Given the description of an element on the screen output the (x, y) to click on. 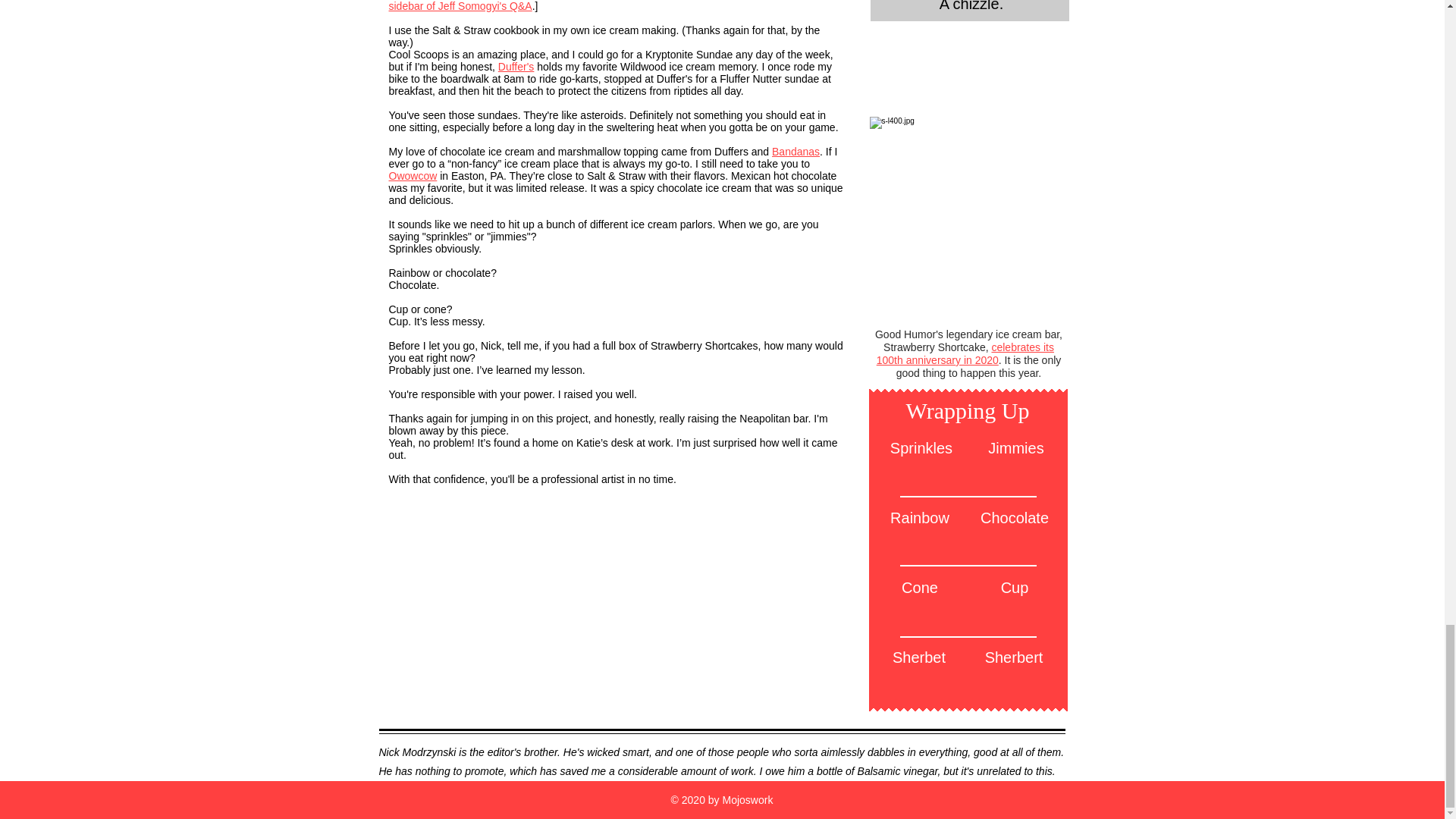
Owowcow (412, 175)
Duffer's (515, 66)
Bandanas (795, 151)
celebrates its 100th anniversary in 2020 (965, 353)
